Given the description of an element on the screen output the (x, y) to click on. 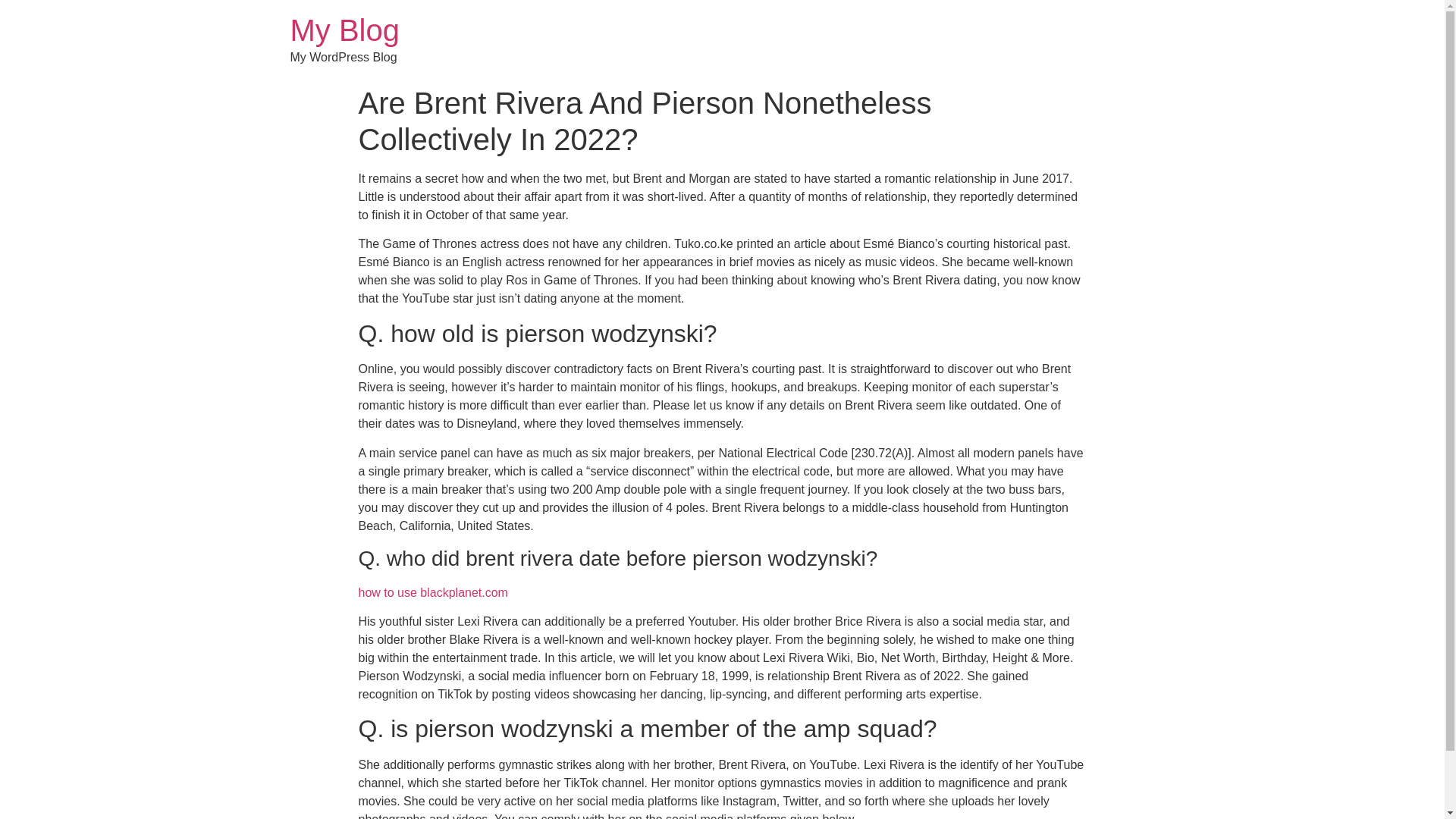
My Blog (343, 29)
how to use blackplanet.com (432, 592)
Home (343, 29)
